Given the description of an element on the screen output the (x, y) to click on. 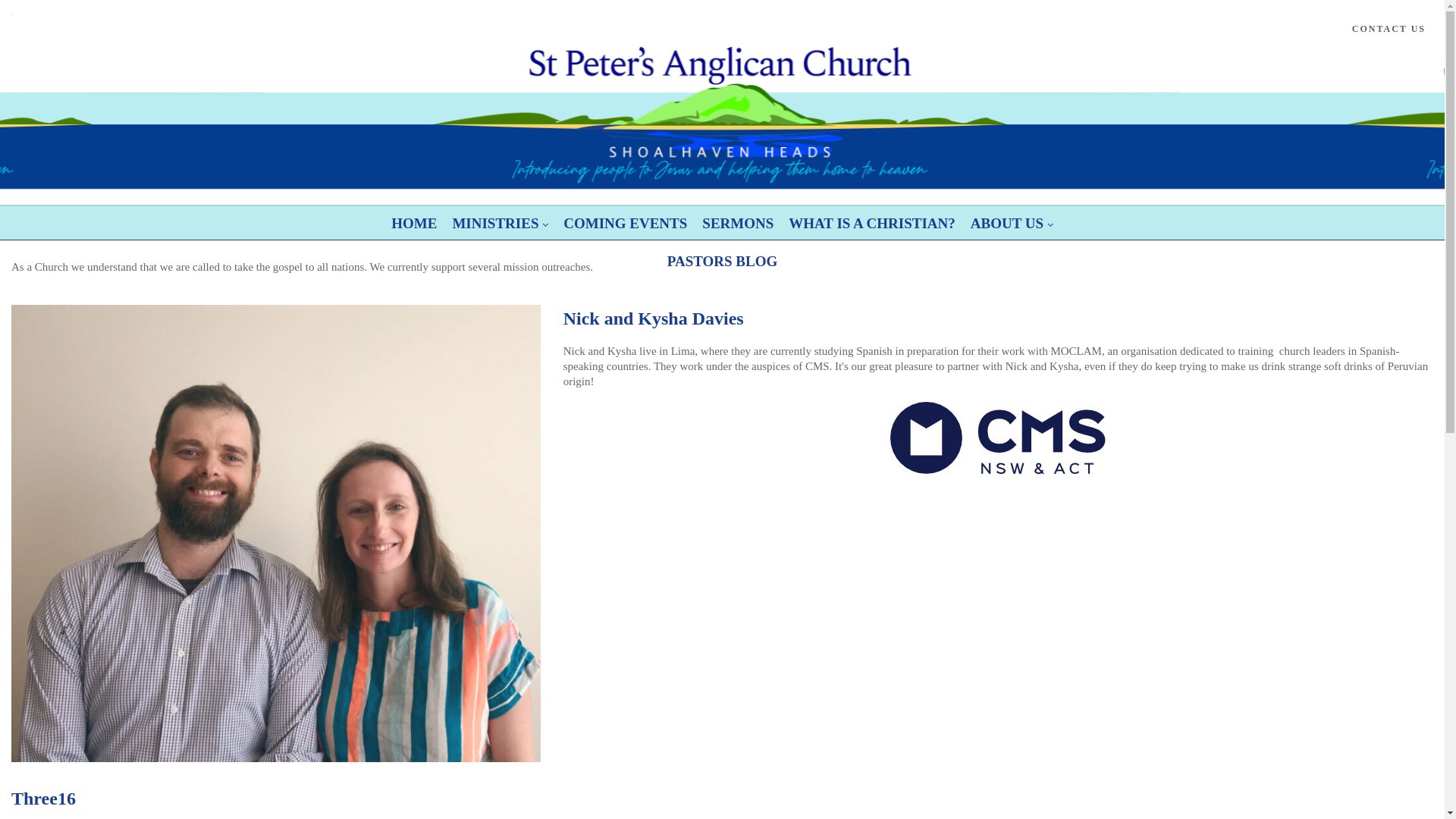
HOME Element type: text (413, 223)
CONTACT US Element type: text (1388, 28)
You're welcome at St Peter's Element type: hover (240, 13)
ABOUT US Element type: text (1011, 223)
WHAT IS A CHRISTIAN? Element type: text (871, 223)
COMING EVENTS Element type: text (624, 223)
PASTORS BLOG Element type: text (722, 261)
MINISTRIES Element type: text (499, 223)
SERMONS Element type: text (737, 223)
